Given the description of an element on the screen output the (x, y) to click on. 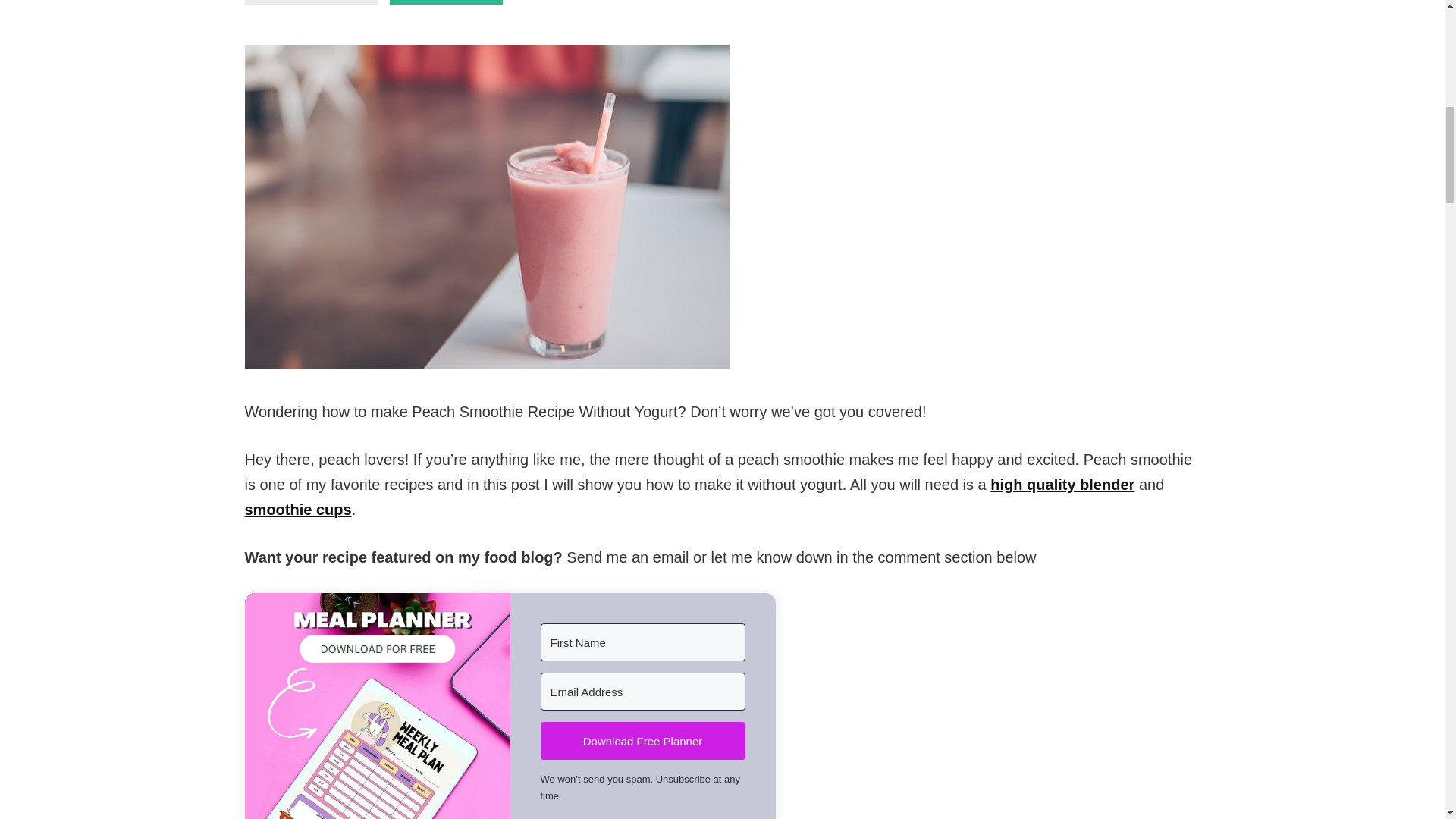
high quality blender (1062, 484)
smoothie cups (297, 509)
Jump To Recipe (310, 2)
Download Free Planner (642, 740)
Built with ConvertKit (641, 816)
Jump To Recipe (310, 2)
Print Recipe (446, 2)
